Given the description of an element on the screen output the (x, y) to click on. 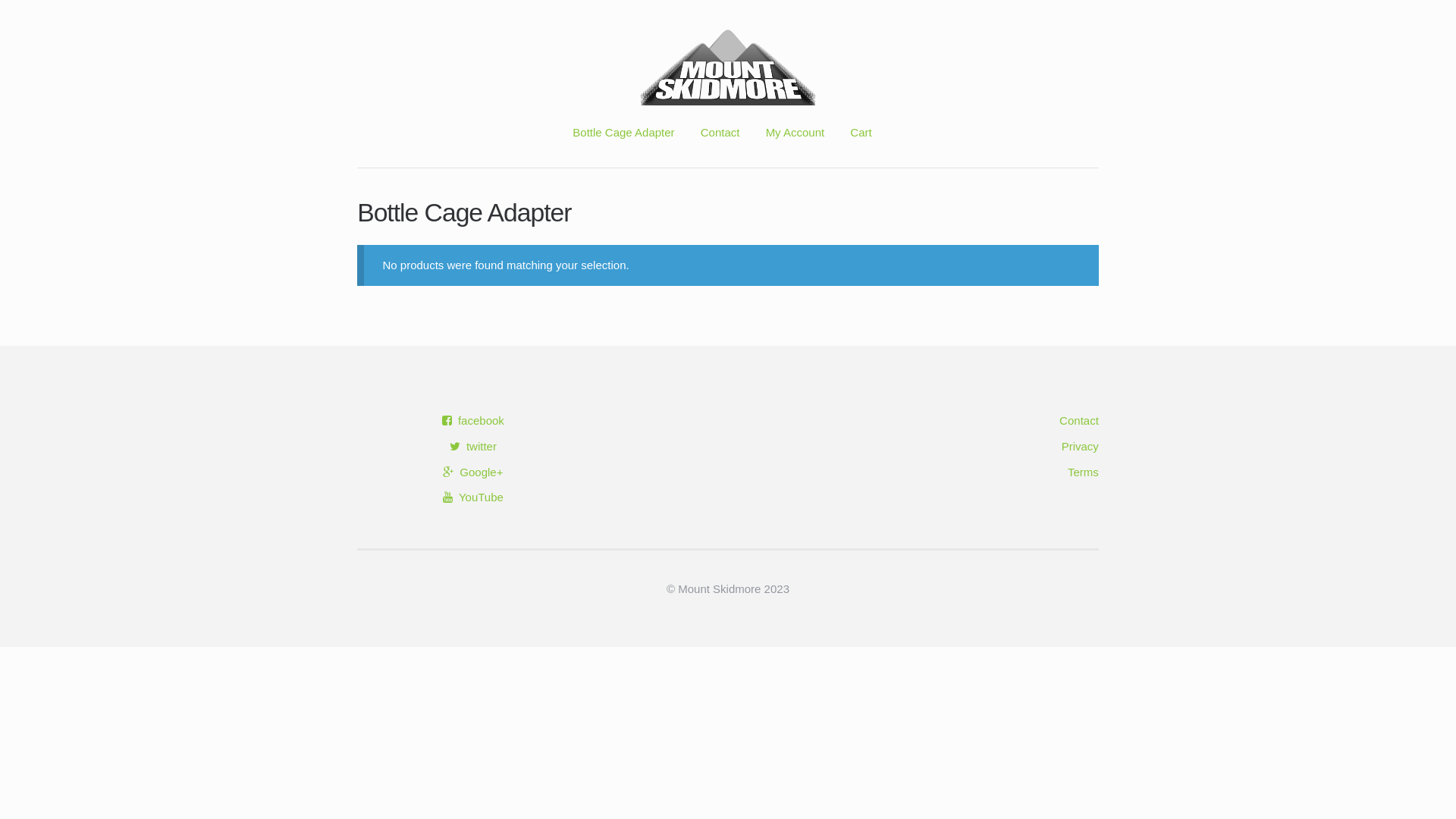
Terms Element type: text (1082, 471)
Skip to navigation Element type: text (356, 28)
Contact Element type: text (720, 145)
facebook Element type: text (473, 420)
twitter Element type: text (472, 445)
Contact Element type: text (1078, 420)
Bottle Cage Adapter Element type: text (623, 145)
My Account Element type: text (795, 145)
YouTube Element type: text (472, 496)
Google+ Element type: text (472, 471)
Cart Element type: text (860, 145)
Privacy Element type: text (1079, 445)
